Given the description of an element on the screen output the (x, y) to click on. 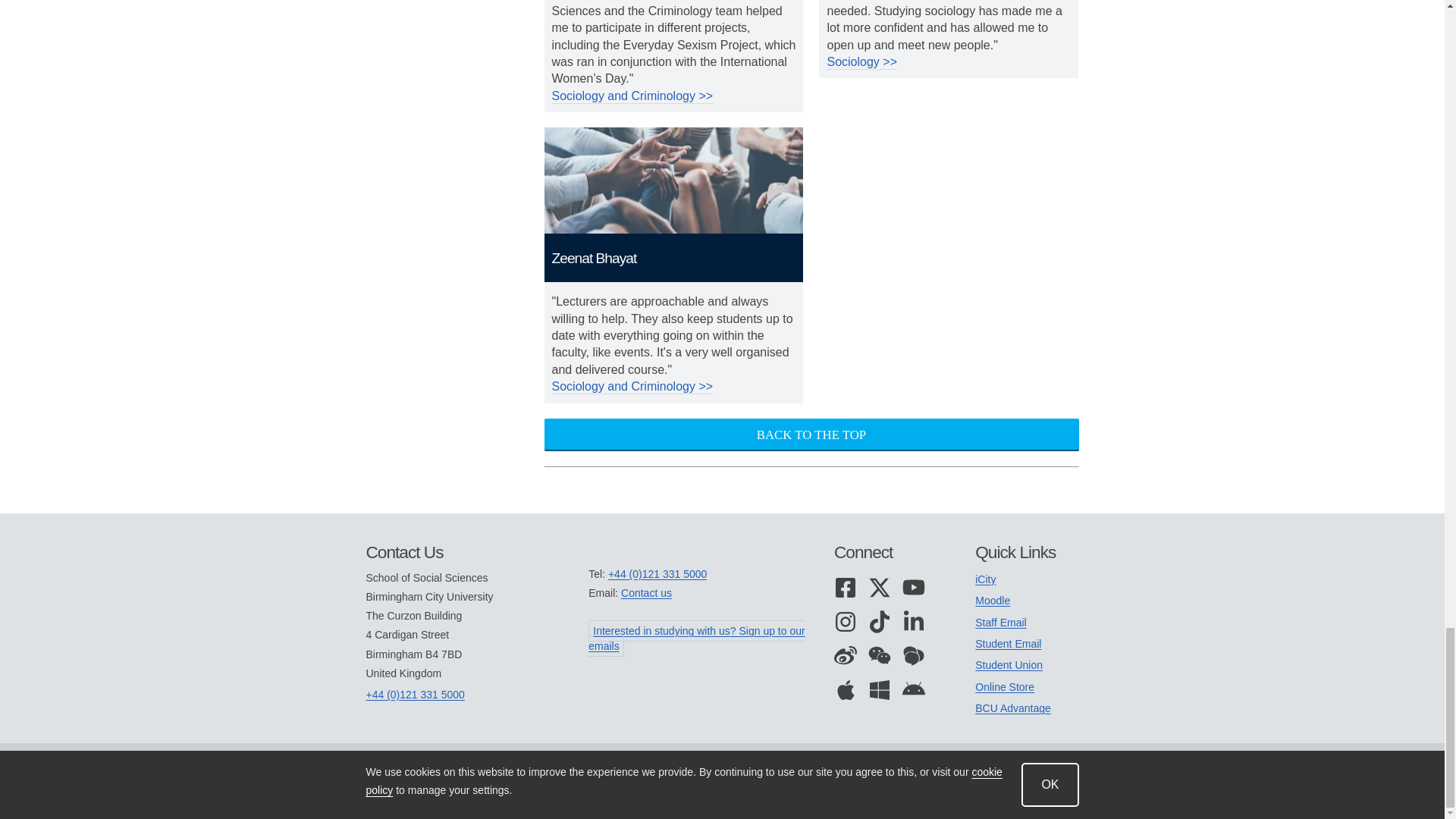
Connect with us (889, 552)
Contact Us (476, 552)
Quick Links (1026, 552)
